Given the description of an element on the screen output the (x, y) to click on. 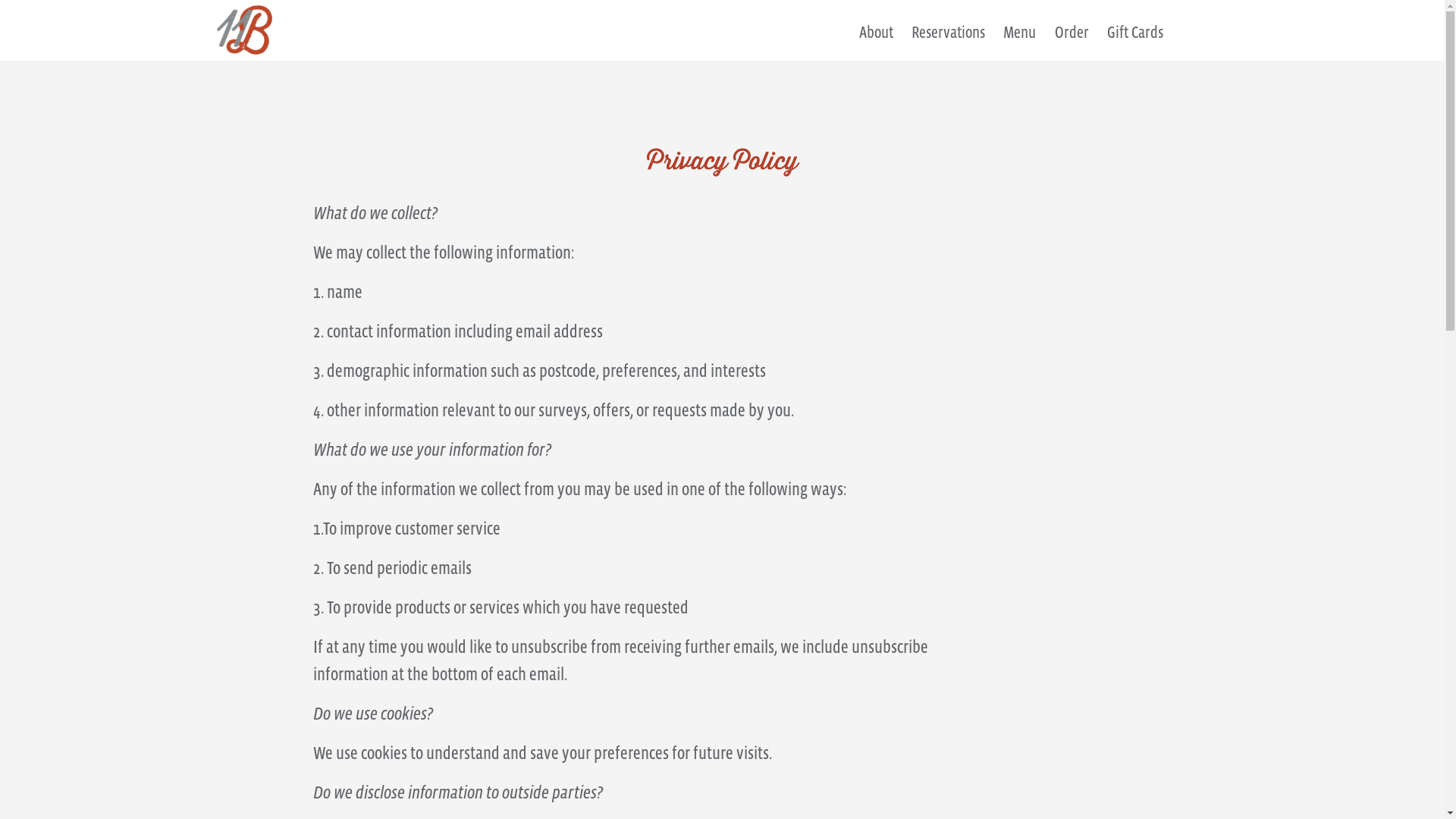
Reservations Element type: text (948, 39)
Gift Cards Element type: text (1135, 39)
Order Element type: text (1071, 39)
Menu Element type: text (1019, 39)
About Element type: text (876, 39)
